Given the description of an element on the screen output the (x, y) to click on. 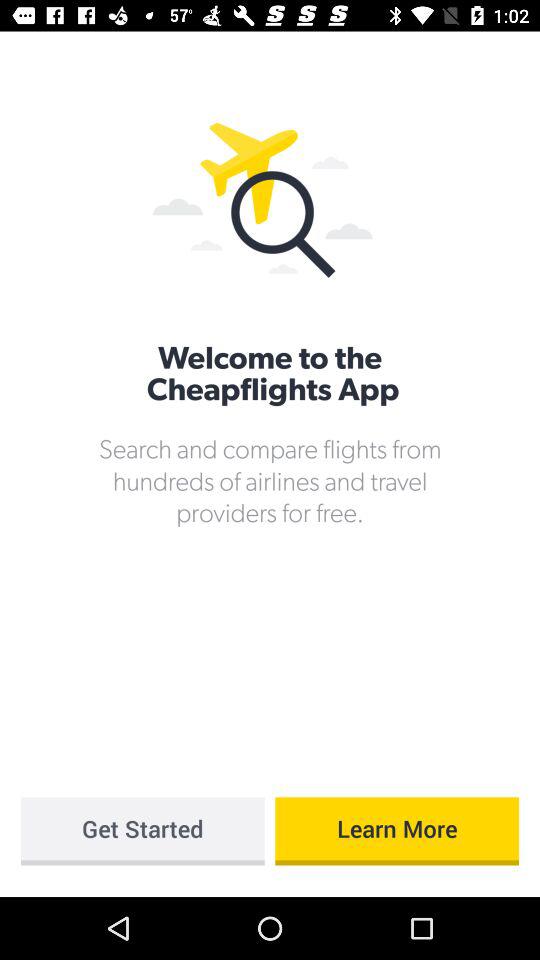
choose icon to the right of get started item (397, 831)
